Given the description of an element on the screen output the (x, y) to click on. 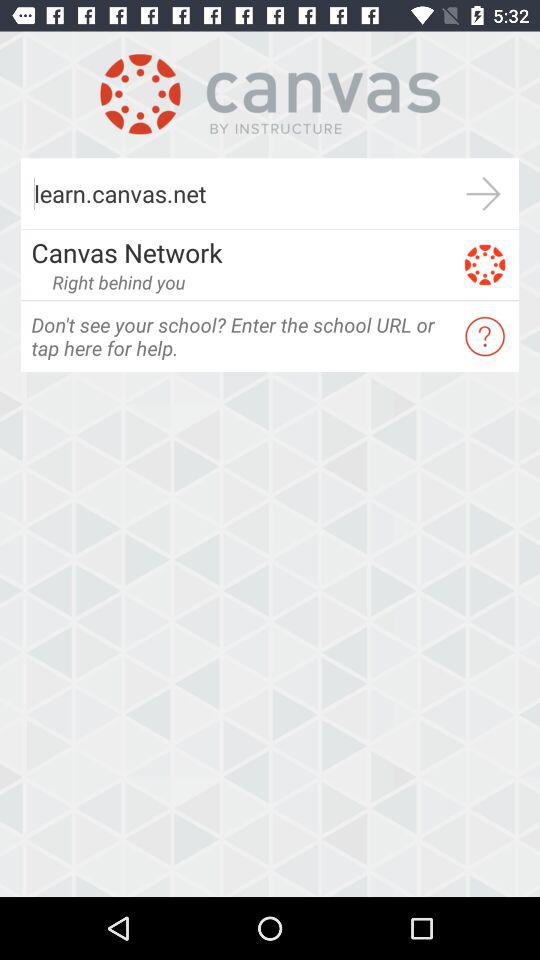
launch the don t see app (240, 336)
